Given the description of an element on the screen output the (x, y) to click on. 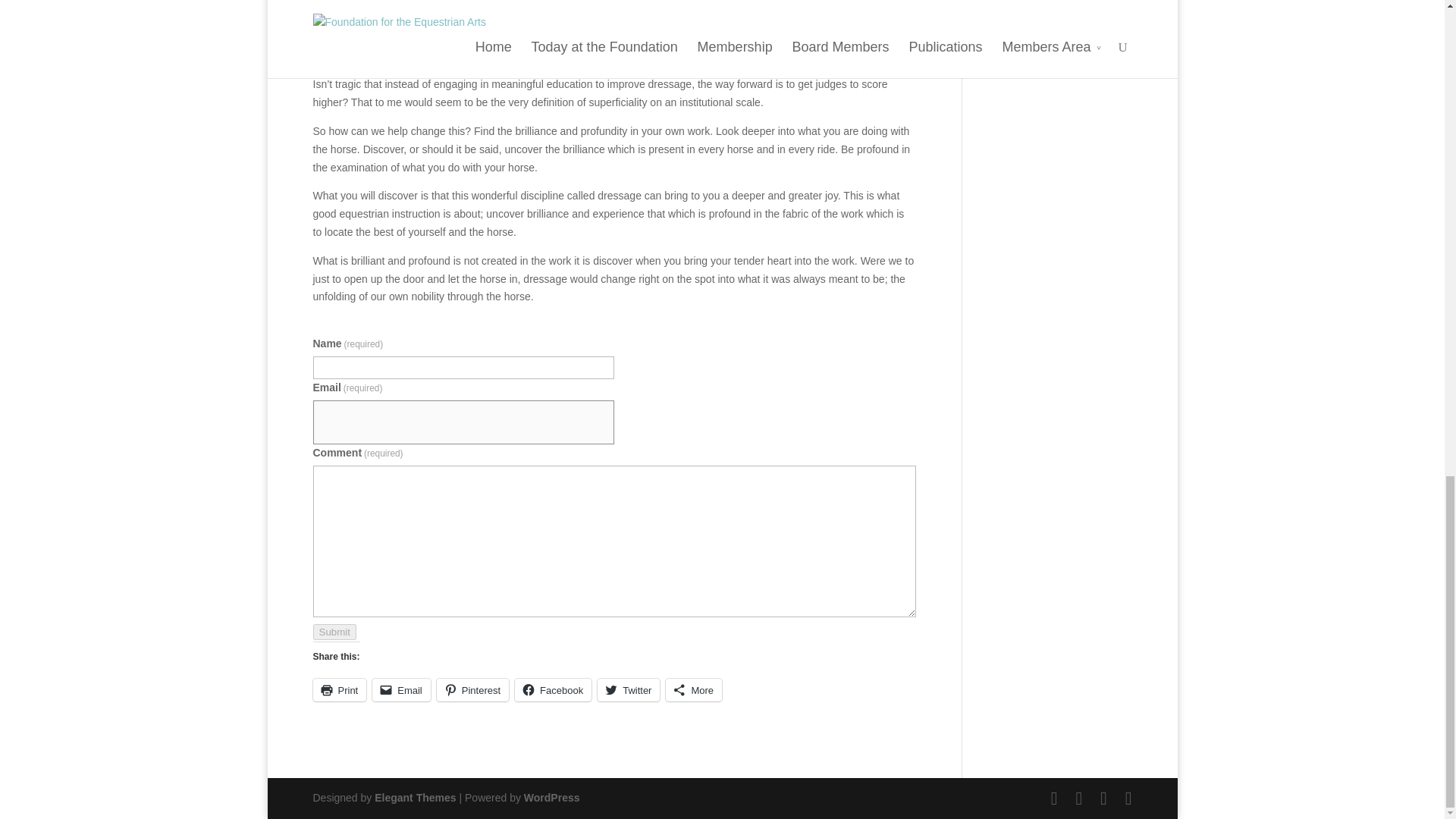
More (693, 689)
Twitter (627, 689)
Click to share on Facebook (553, 689)
Premium WordPress Themes (414, 797)
Click to print (339, 689)
Pinterest (472, 689)
Click to share on Twitter (627, 689)
Click to share on Pinterest (472, 689)
Click to email a link to a friend (401, 689)
Facebook (553, 689)
